Given the description of an element on the screen output the (x, y) to click on. 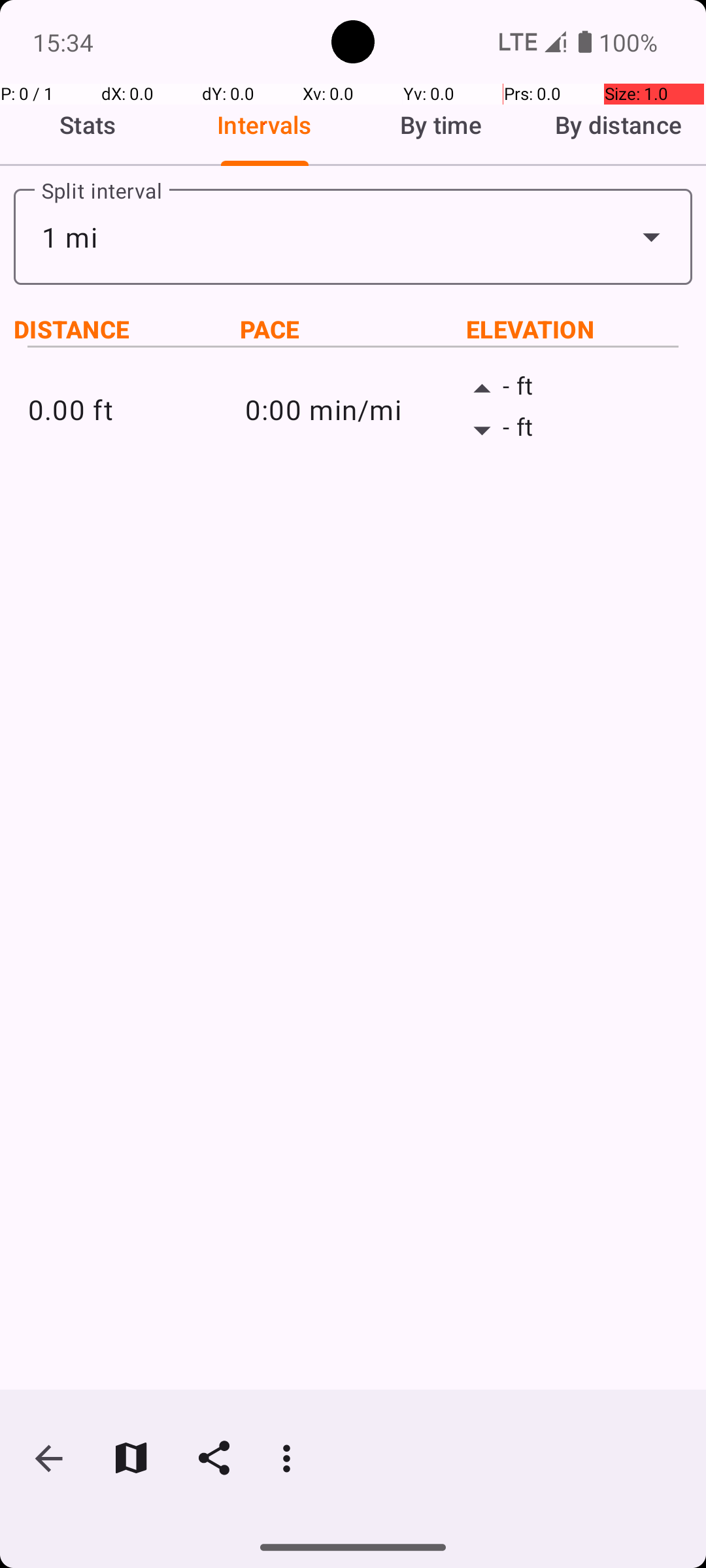
PACE Element type: android.widget.TextView (352, 328)
0:00 min/mi Element type: android.widget.TextView (352, 408)
